Given the description of an element on the screen output the (x, y) to click on. 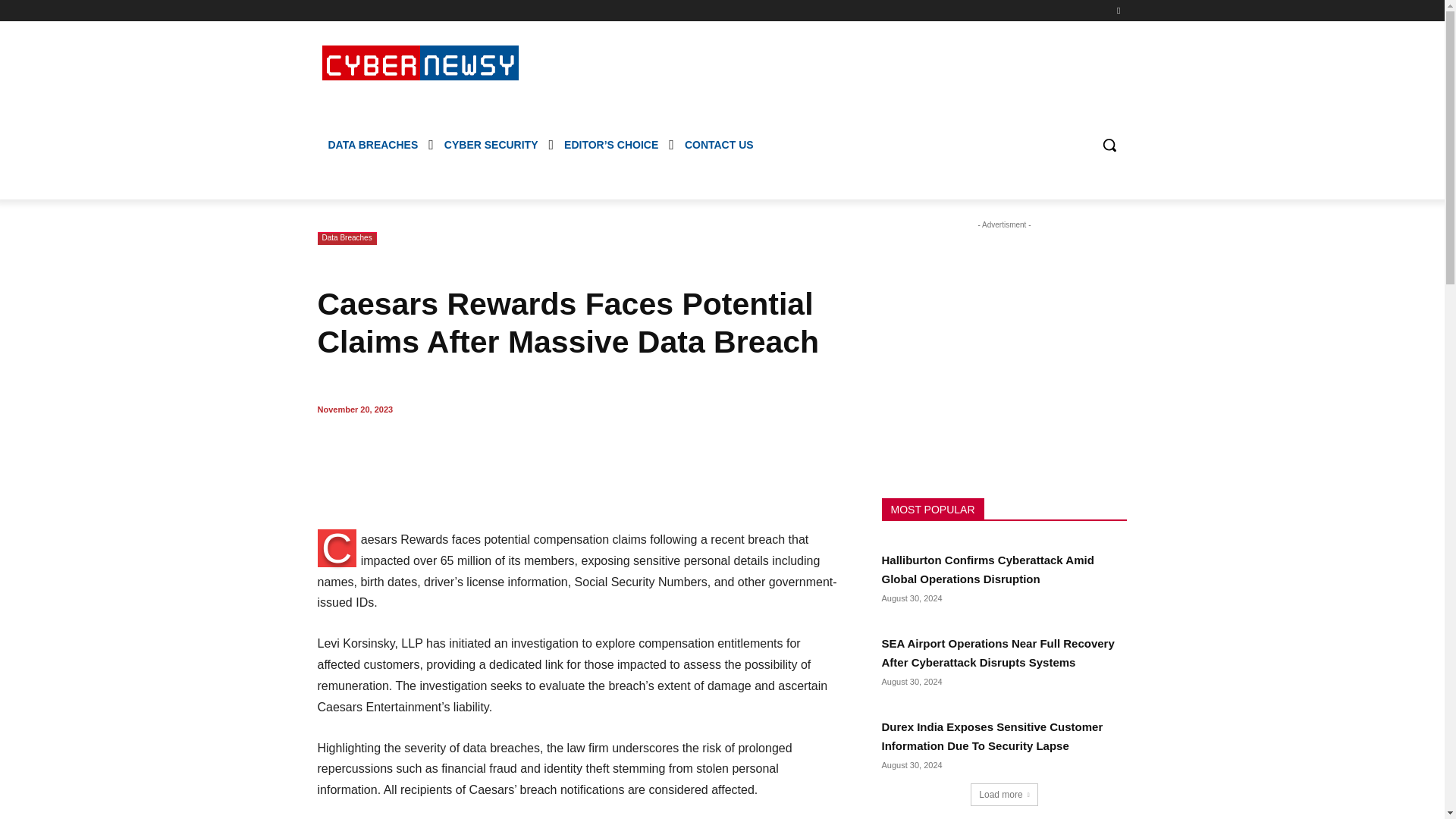
RSS (1117, 9)
Data Breaches (346, 237)
CONTACT US (719, 144)
CYBER SECURITY (490, 144)
DATA BREACHES (372, 144)
